Given the description of an element on the screen output the (x, y) to click on. 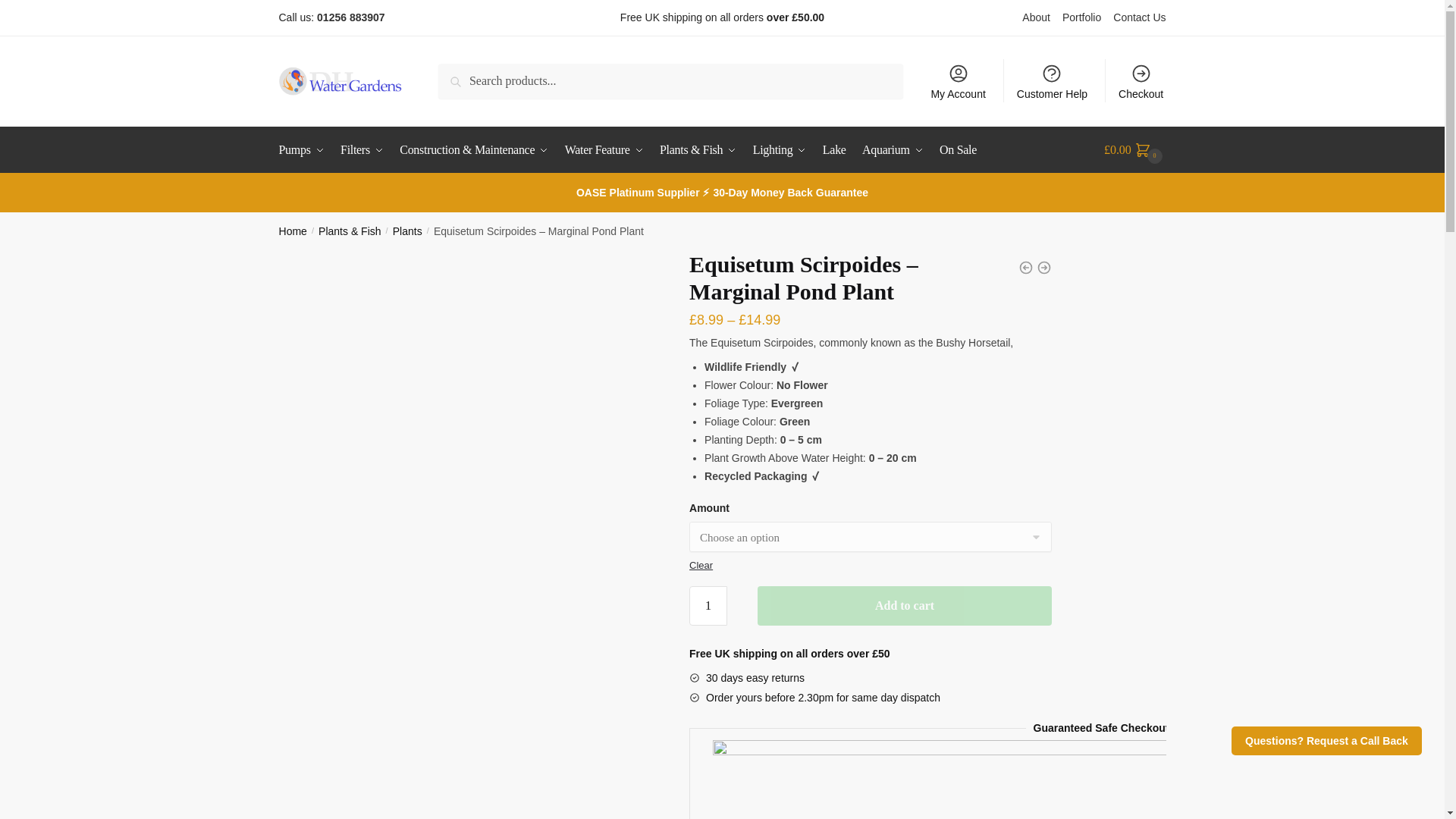
View your shopping cart (1134, 149)
Checkout (1141, 80)
Customer Help (1052, 80)
Search (473, 80)
01256 883907 (351, 17)
Contact Us (1139, 17)
Portfolio (1087, 17)
Pumps (304, 149)
My Account (957, 80)
About (1042, 17)
